Given the description of an element on the screen output the (x, y) to click on. 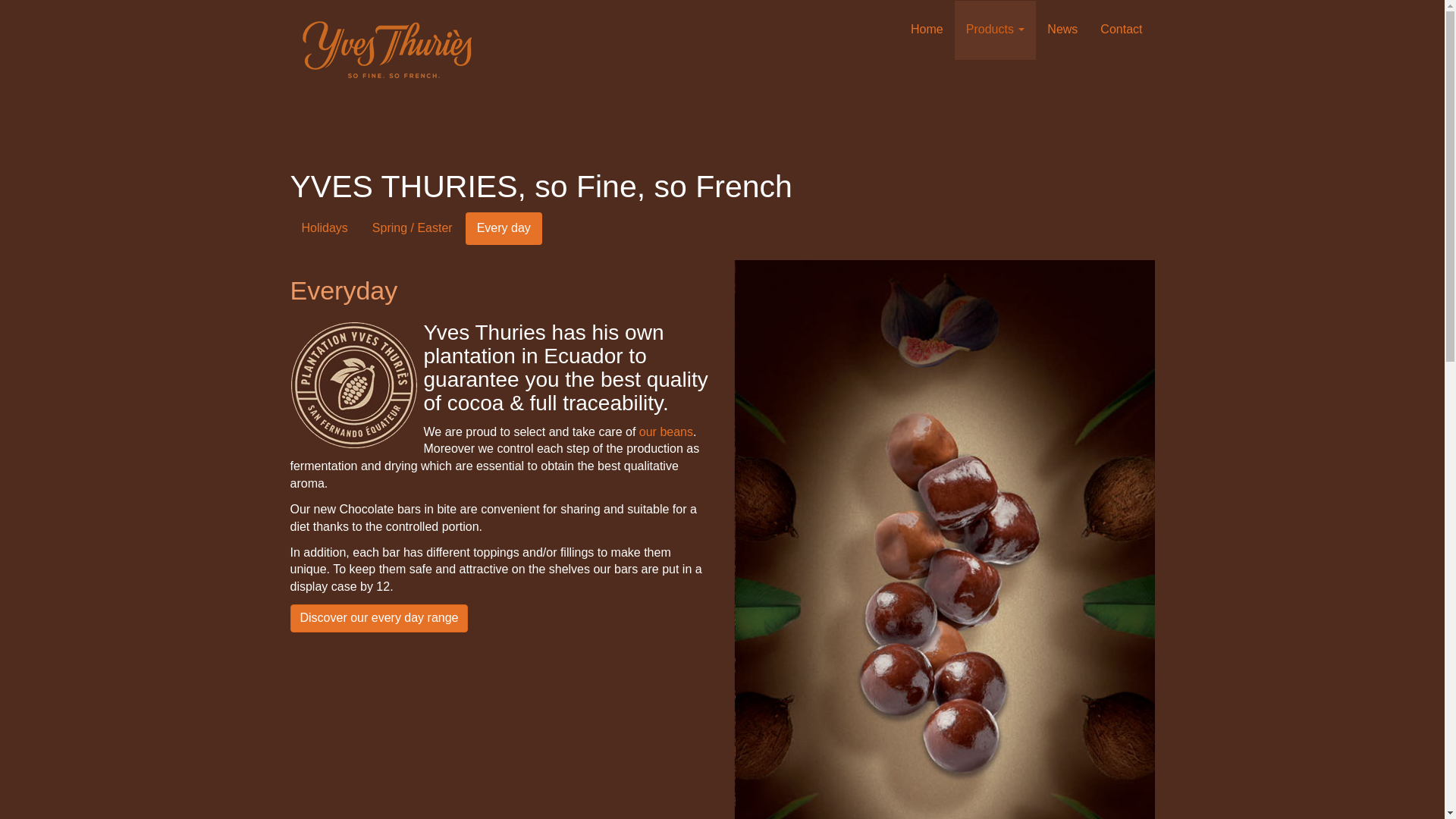
Every day (503, 228)
Contact (1121, 29)
News (1062, 29)
Discover our every day range (378, 618)
our beans (666, 431)
Holidays (323, 228)
Every day (503, 228)
Products (995, 29)
Discover our every day range (378, 618)
